Given the description of an element on the screen output the (x, y) to click on. 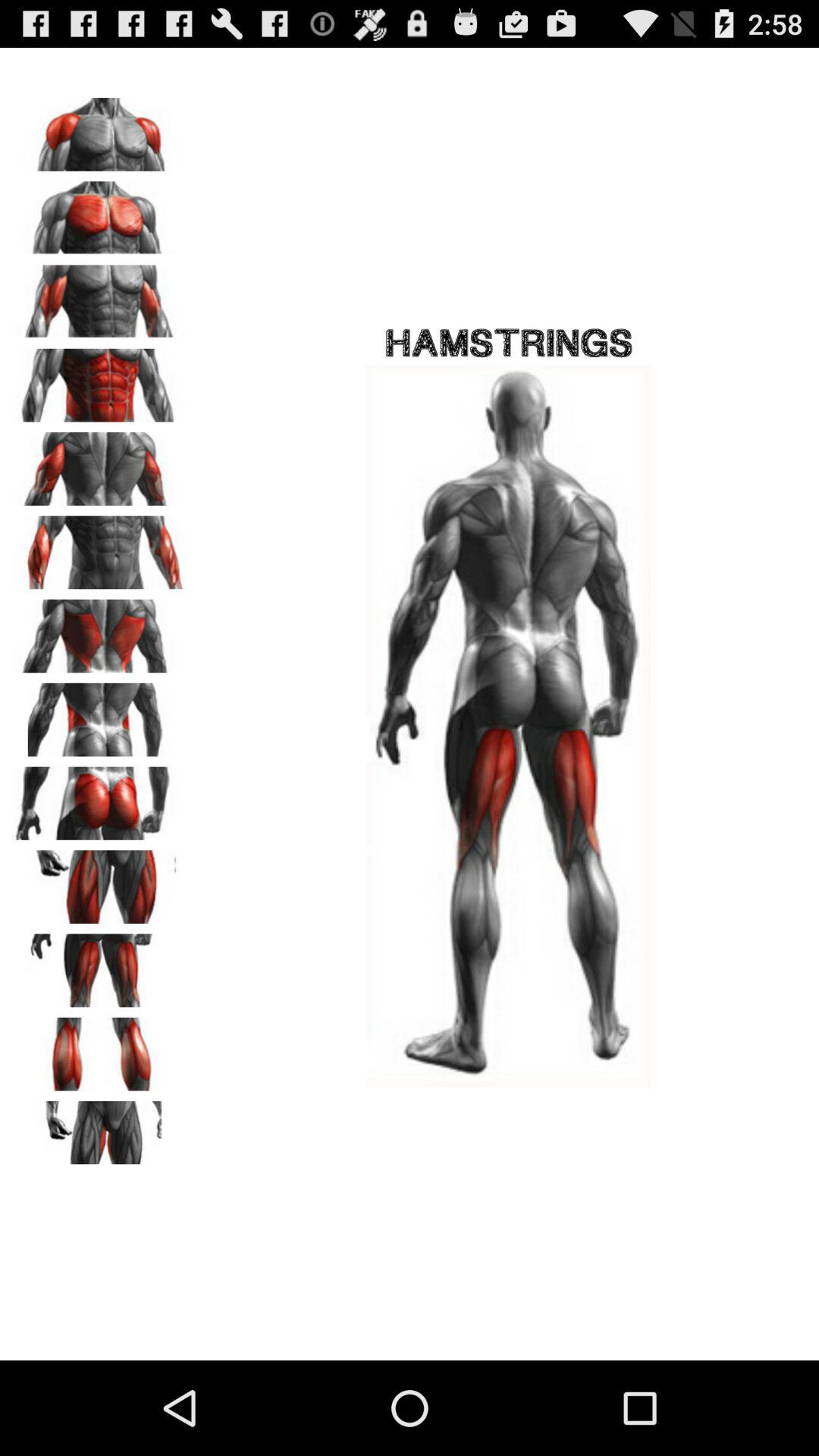
triceps (99, 463)
